Given the description of an element on the screen output the (x, y) to click on. 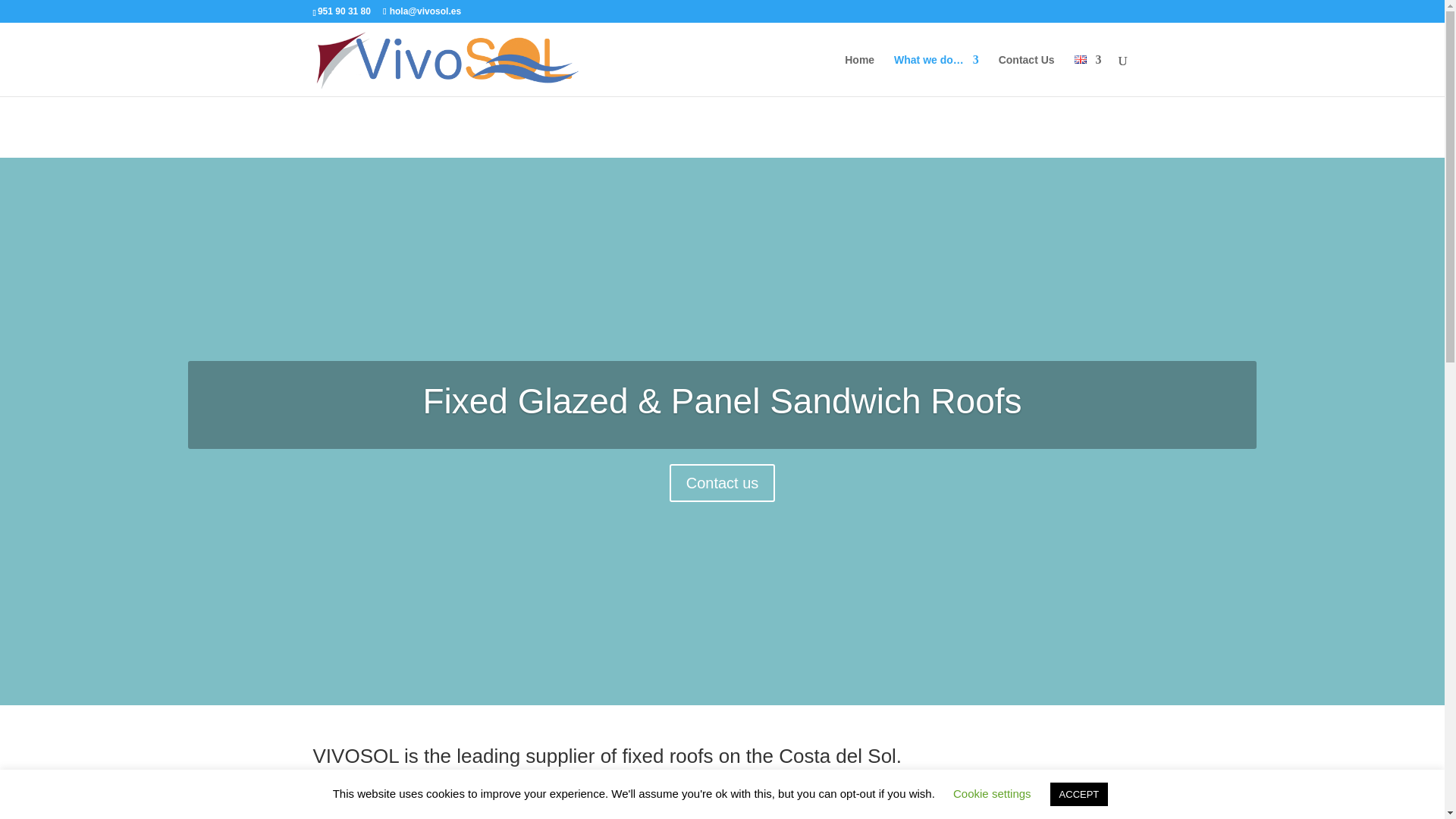
Home (859, 75)
